Given the description of an element on the screen output the (x, y) to click on. 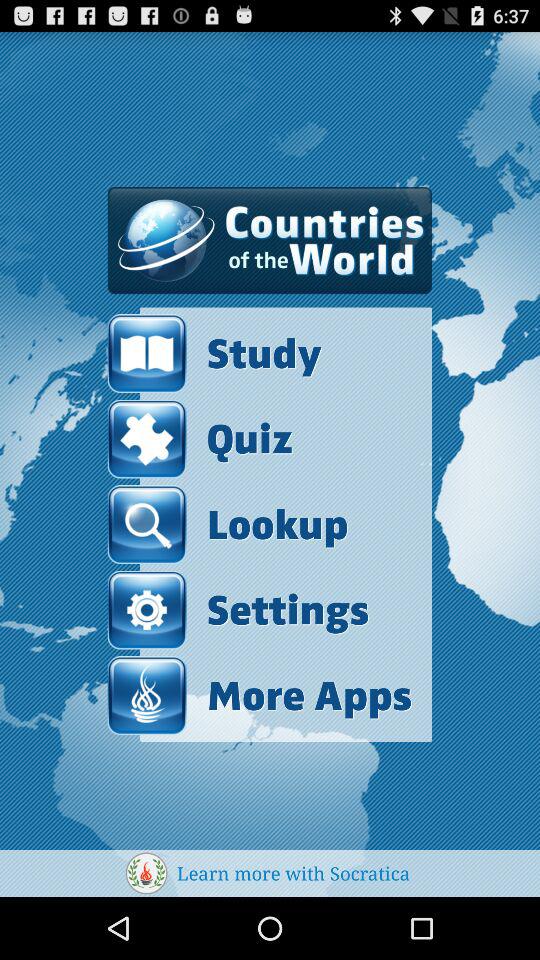
open settings (238, 609)
